Given the description of an element on the screen output the (x, y) to click on. 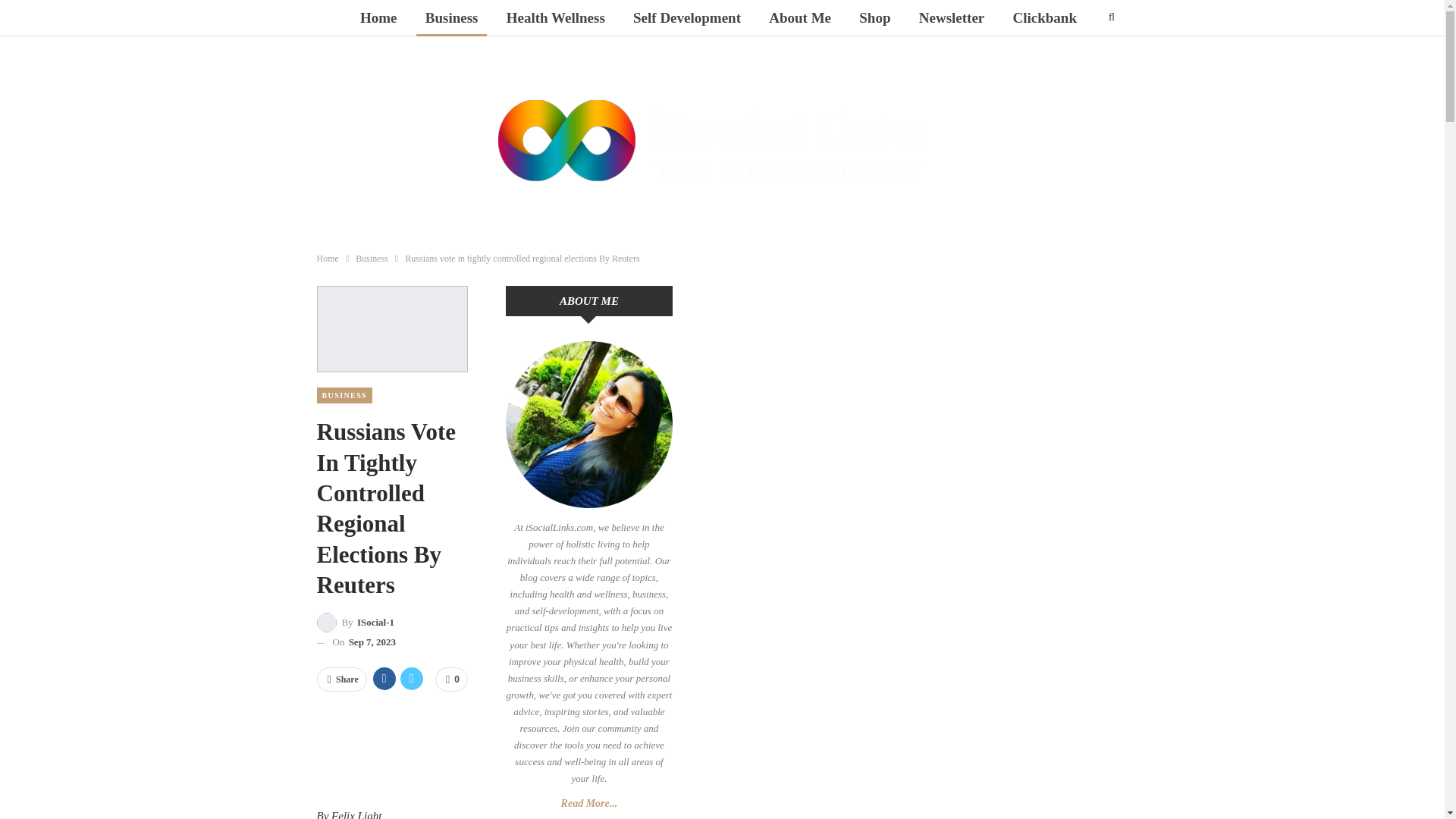
Browse Author Articles (355, 621)
Home (378, 18)
Business (371, 258)
Digistore (718, 54)
About Me (800, 18)
Business (451, 18)
Health Wellness (555, 18)
BUSINESS (344, 395)
Shop (874, 18)
Self Development (686, 18)
Home (328, 258)
By ISocial-1 (355, 621)
Clickbank (1045, 18)
0 (451, 679)
Newsletter (952, 18)
